Given the description of an element on the screen output the (x, y) to click on. 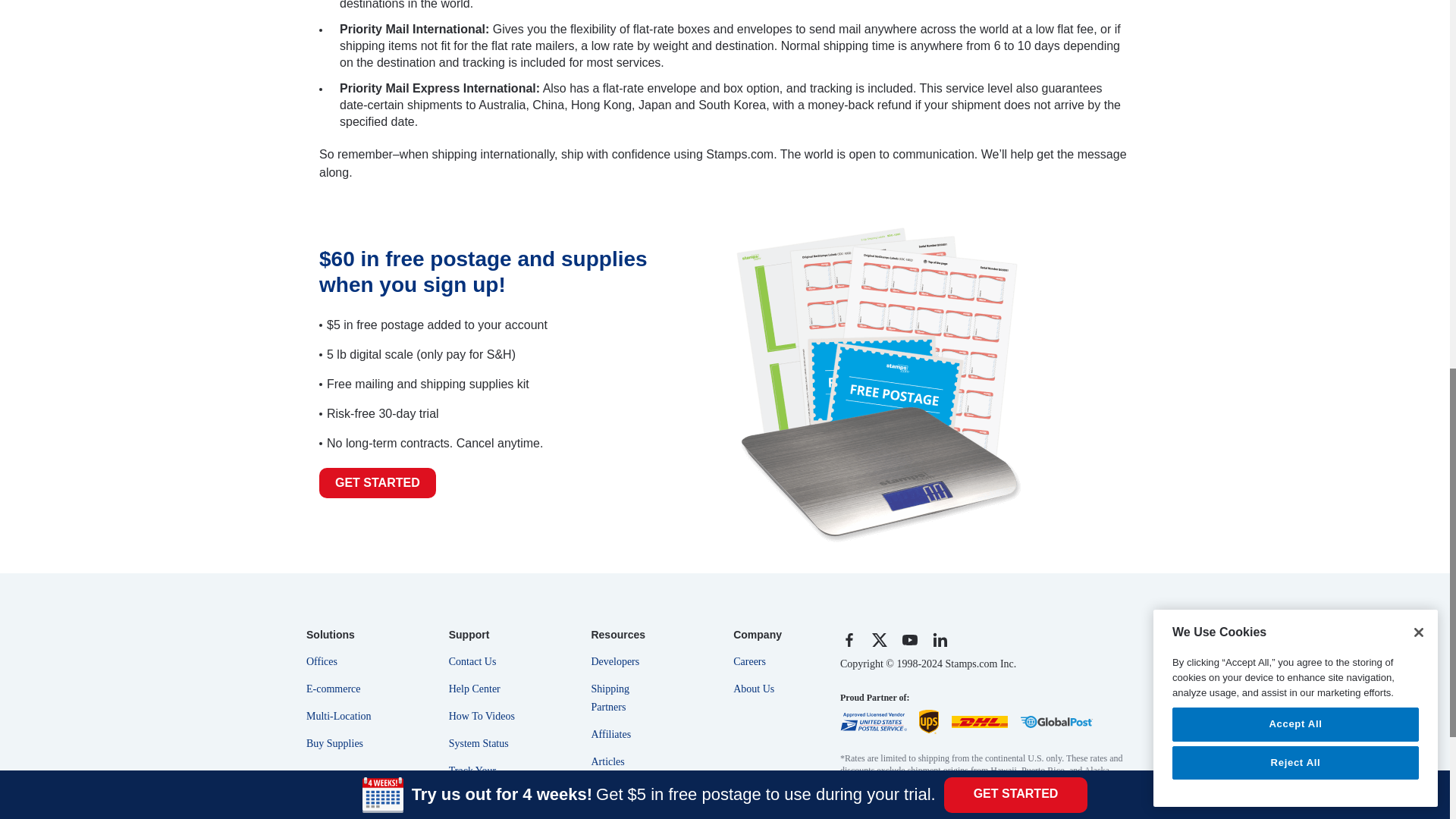
Multi-Location (341, 711)
Contact Us (483, 656)
Articles (626, 757)
GET STARTED (376, 482)
Affiliates (626, 729)
Offices (341, 656)
Buy Supplies (341, 738)
E-commerce (341, 684)
Shipping Partners (626, 693)
Buy Supplies (341, 738)
Multi-Location (341, 711)
Help Center (483, 684)
E-commerce (341, 684)
System Status (483, 738)
Offices (341, 656)
